Given the description of an element on the screen output the (x, y) to click on. 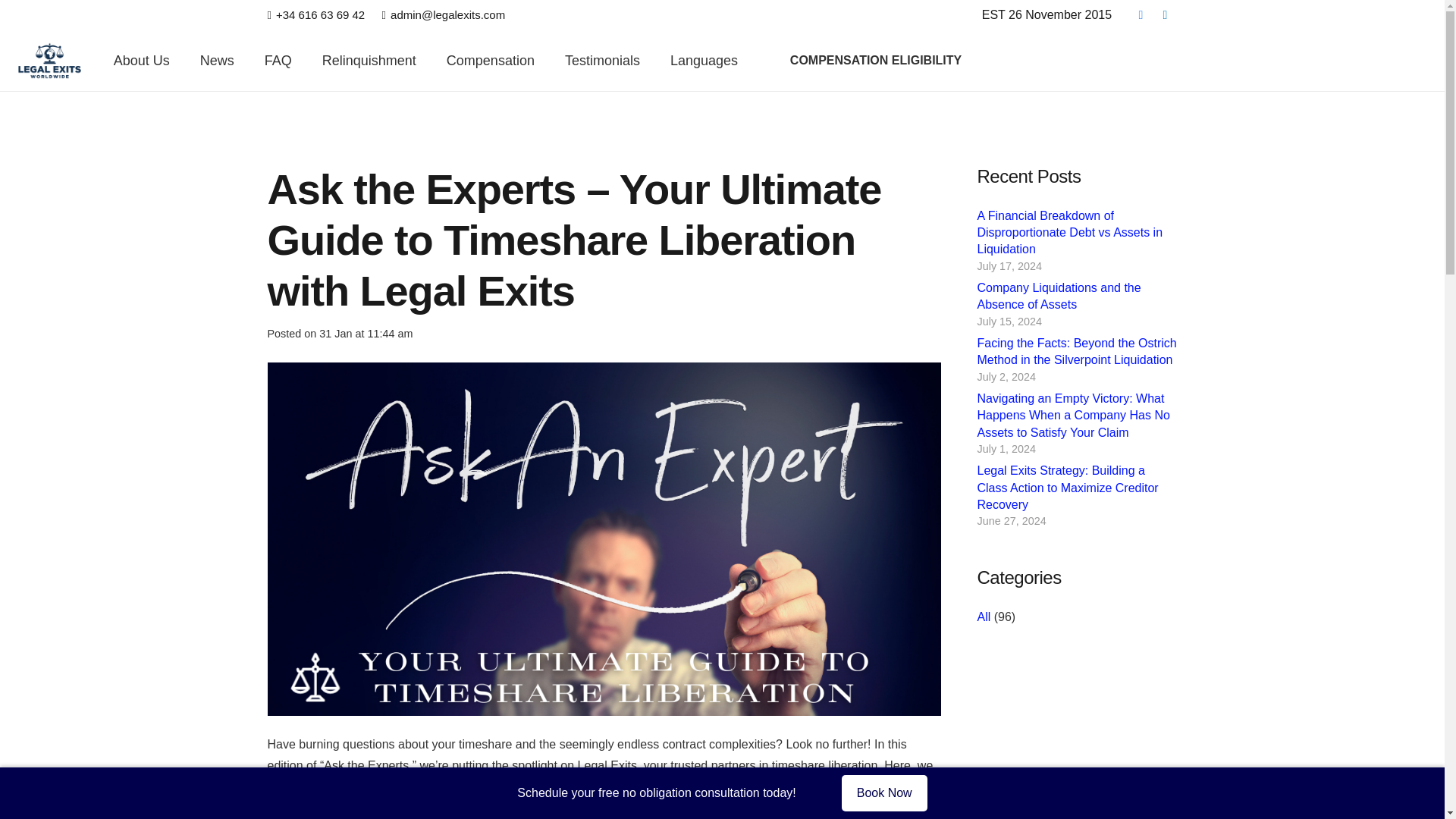
Testimonials (602, 60)
Compensation (490, 60)
FAQ (277, 60)
Relinquishment (368, 60)
Company Liquidations and the Absence of Assets (1058, 296)
News (216, 60)
LinkedIn (1164, 15)
About Us (141, 60)
Facebook (1140, 15)
